Given the description of an element on the screen output the (x, y) to click on. 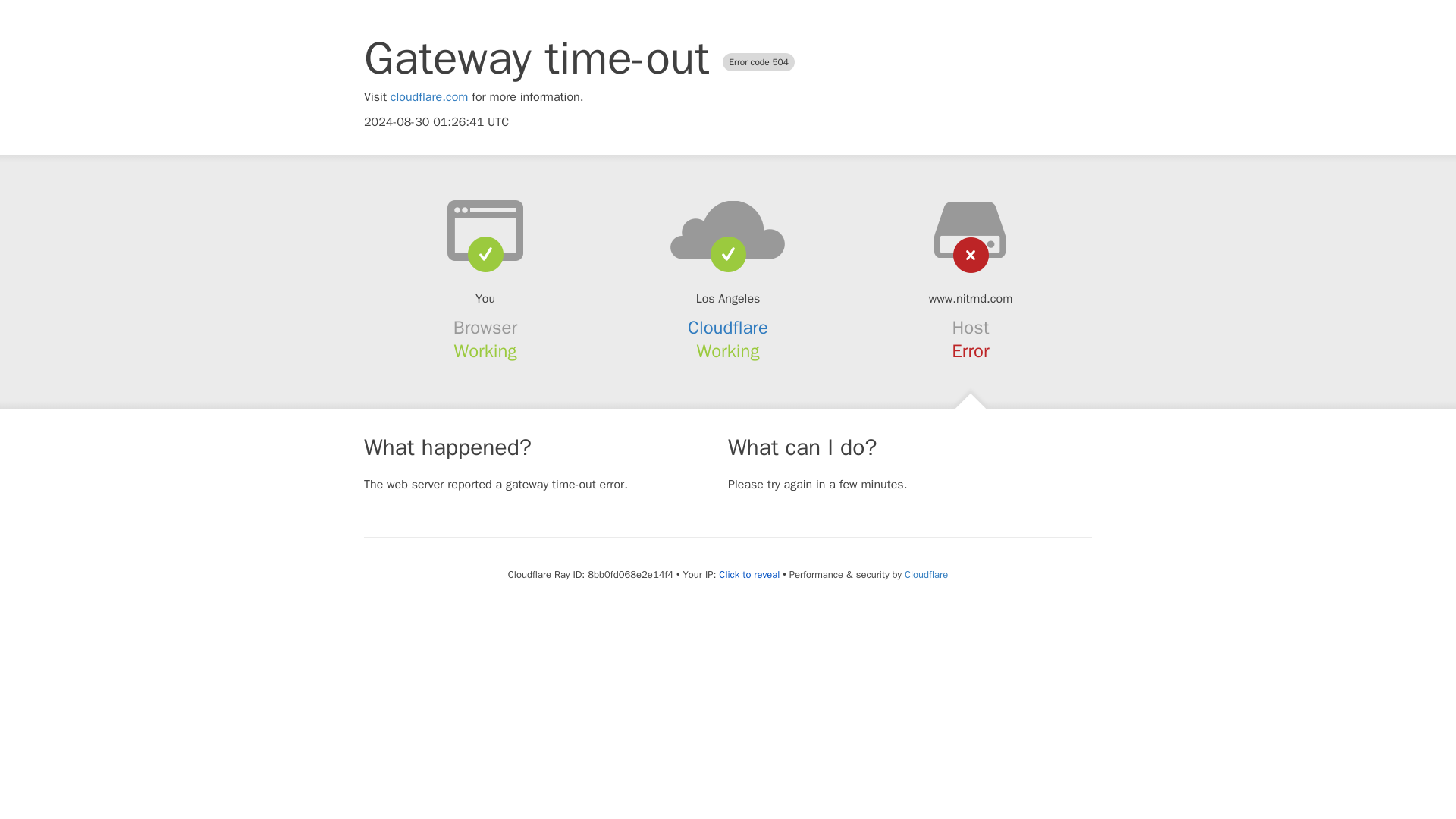
Click to reveal (748, 574)
Cloudflare (727, 327)
Cloudflare (925, 574)
cloudflare.com (429, 96)
